Given the description of an element on the screen output the (x, y) to click on. 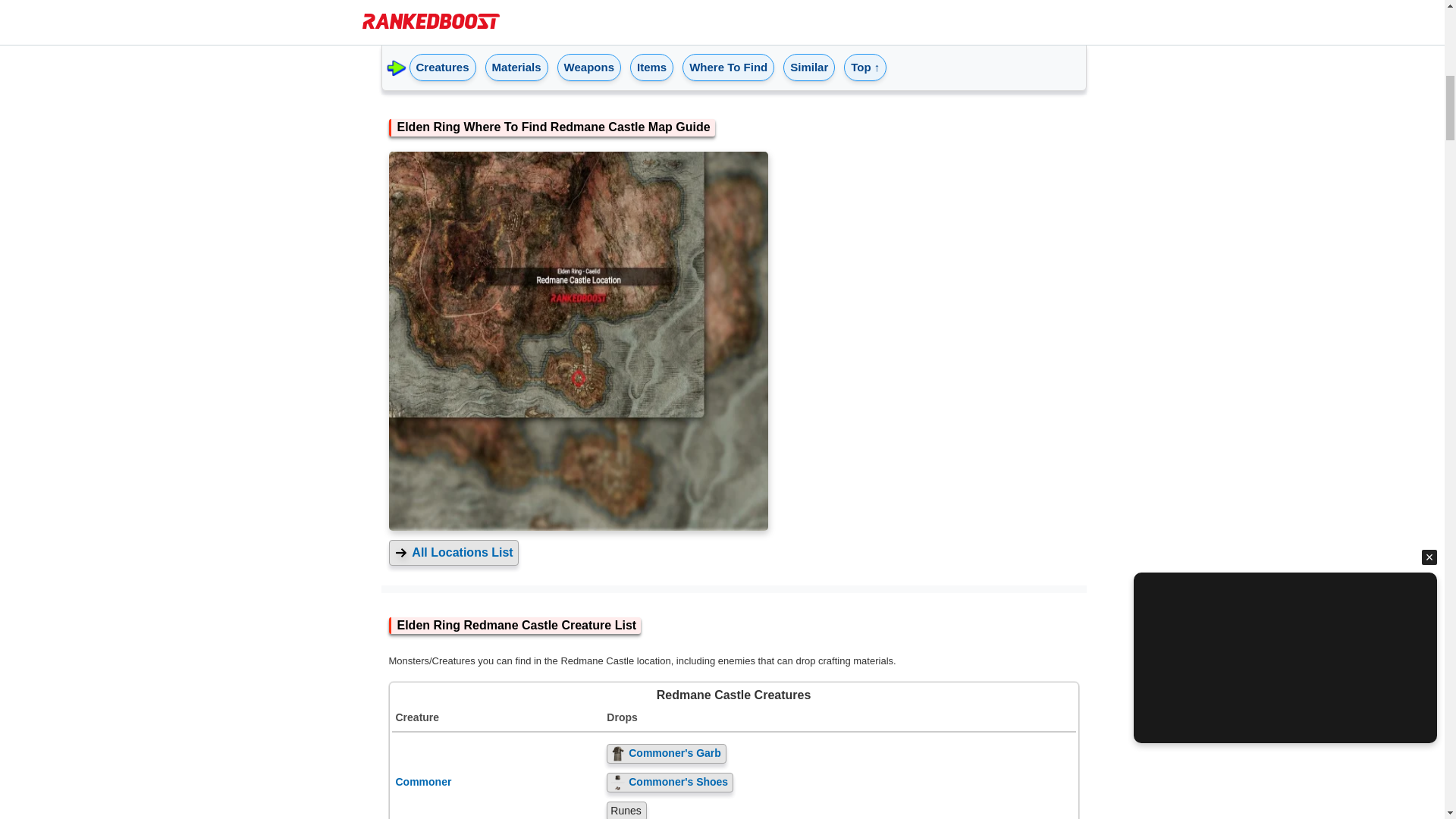
Weapons (589, 58)
Commoner (497, 782)
Commoner's Shoes (839, 782)
Where To Find (728, 58)
Similar (809, 58)
Commoner's Garb (839, 753)
Creatures (442, 58)
Materials (516, 58)
Items (652, 58)
